Given the description of an element on the screen output the (x, y) to click on. 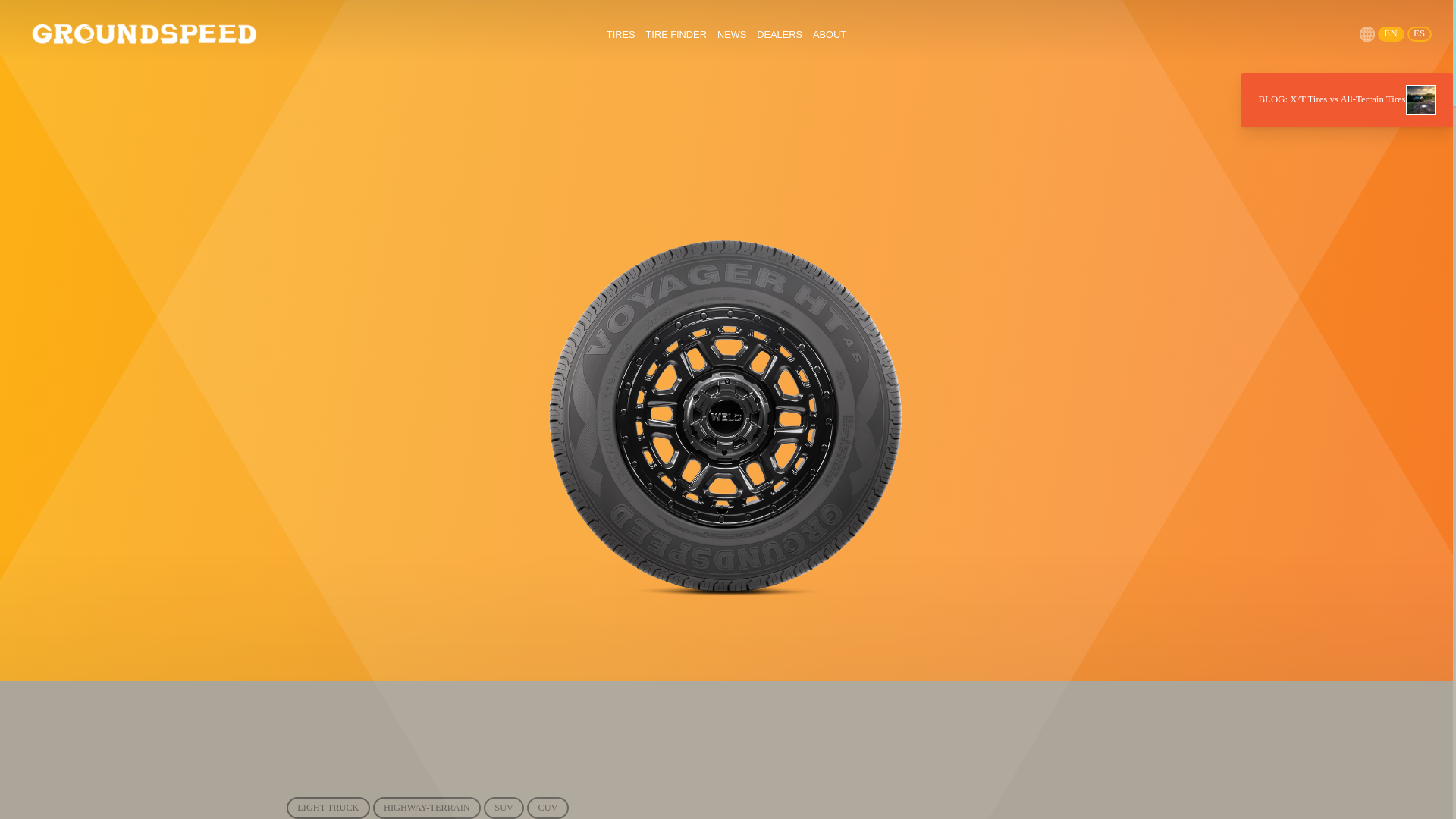
ES (676, 34)
Groundspeed Tires (779, 34)
LIGHT TRUCK (1419, 33)
EN (143, 33)
